Given the description of an element on the screen output the (x, y) to click on. 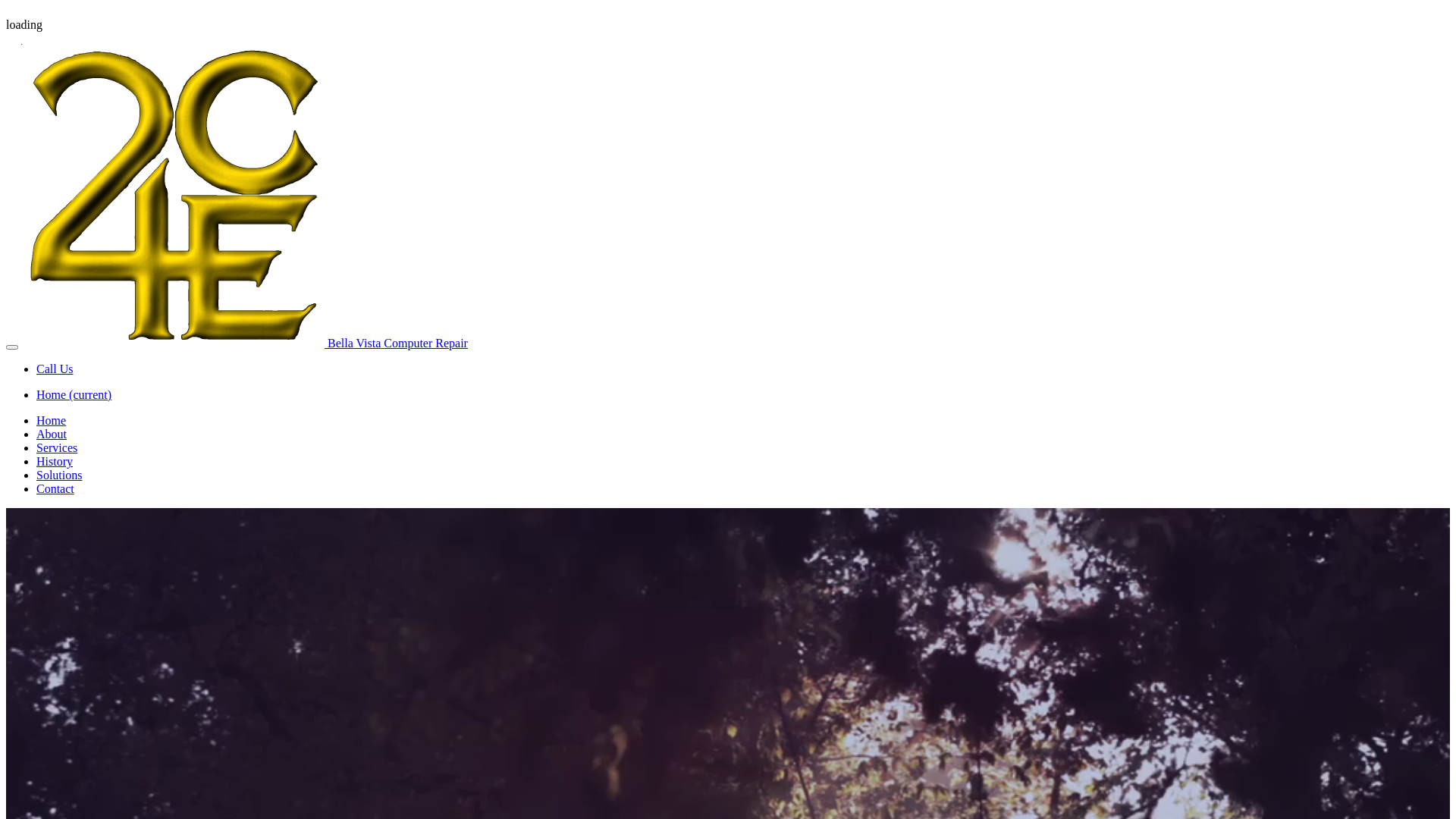
Contact Element type: text (55, 488)
Solutions Element type: text (58, 474)
History Element type: text (54, 461)
Services Element type: text (56, 447)
Bella Vista Computer Repair Element type: text (244, 342)
Call Us Element type: text (54, 368)
About Element type: text (51, 433)
Home Element type: text (50, 420)
Home (current) Element type: text (73, 394)
